Given the description of an element on the screen output the (x, y) to click on. 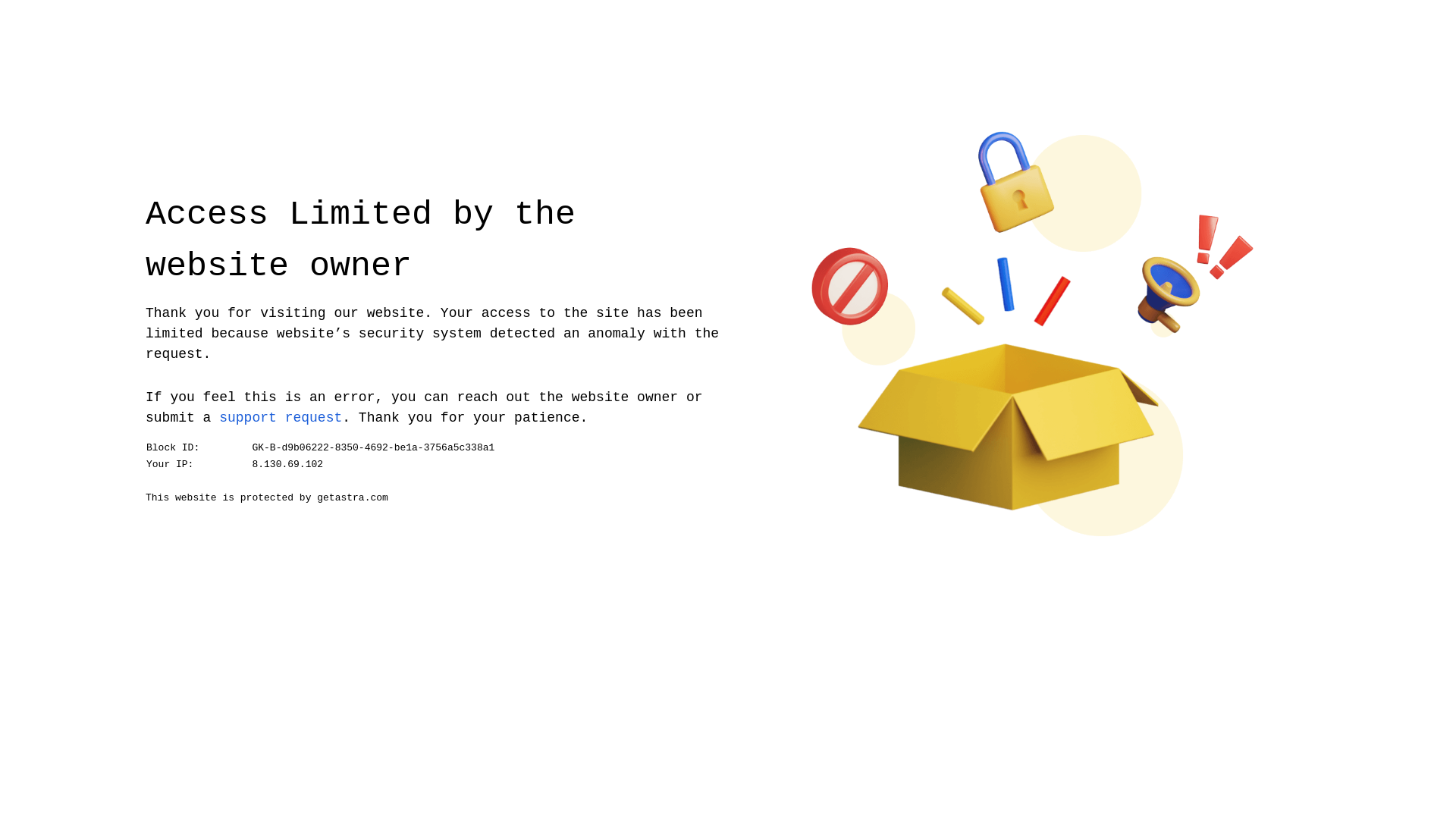
support request (280, 417)
